Given the description of an element on the screen output the (x, y) to click on. 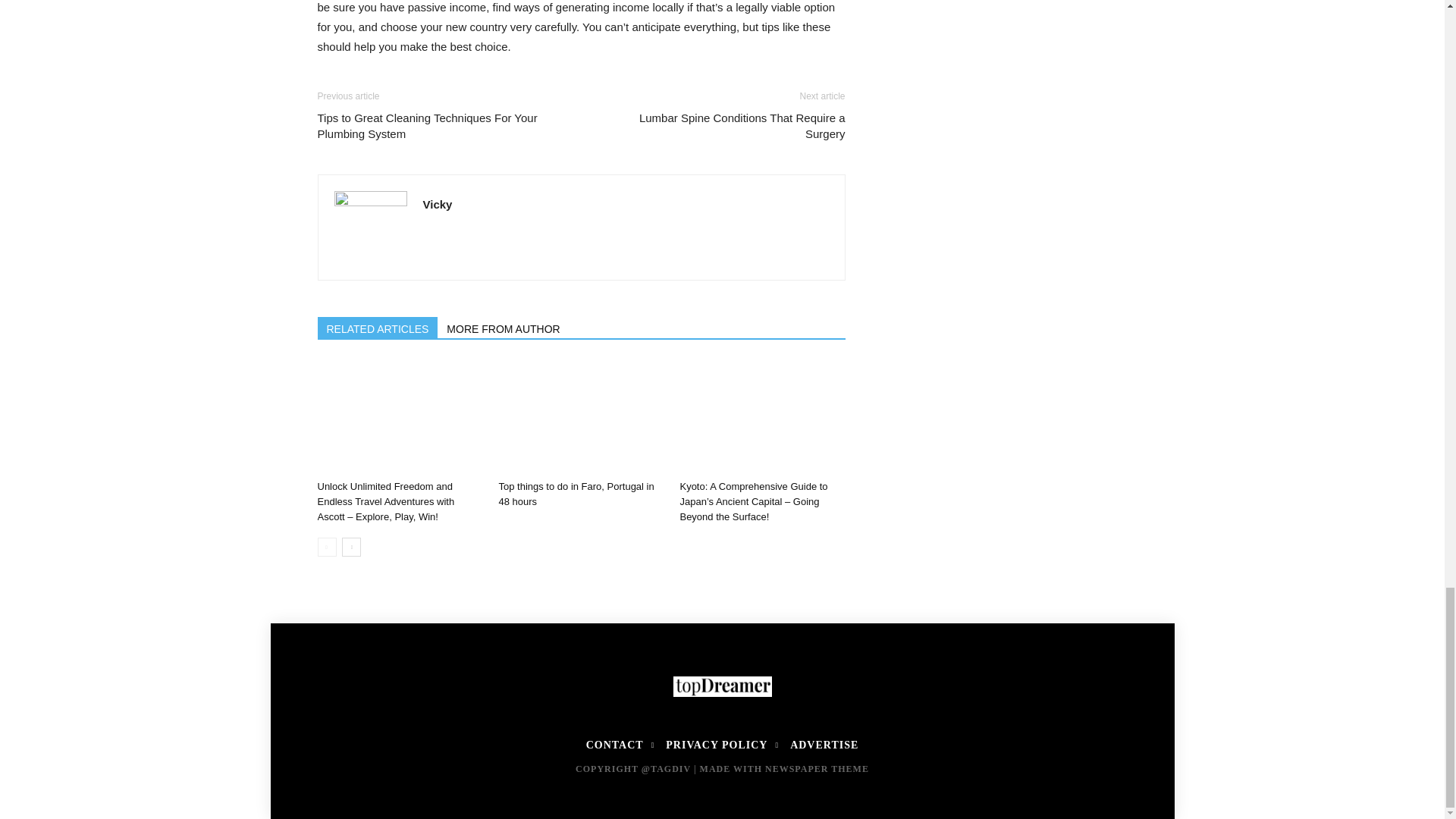
Top things to do in Faro, Portugal in 48 hours (580, 417)
Top things to do in Faro, Portugal in 48 hours (575, 493)
